Given the description of an element on the screen output the (x, y) to click on. 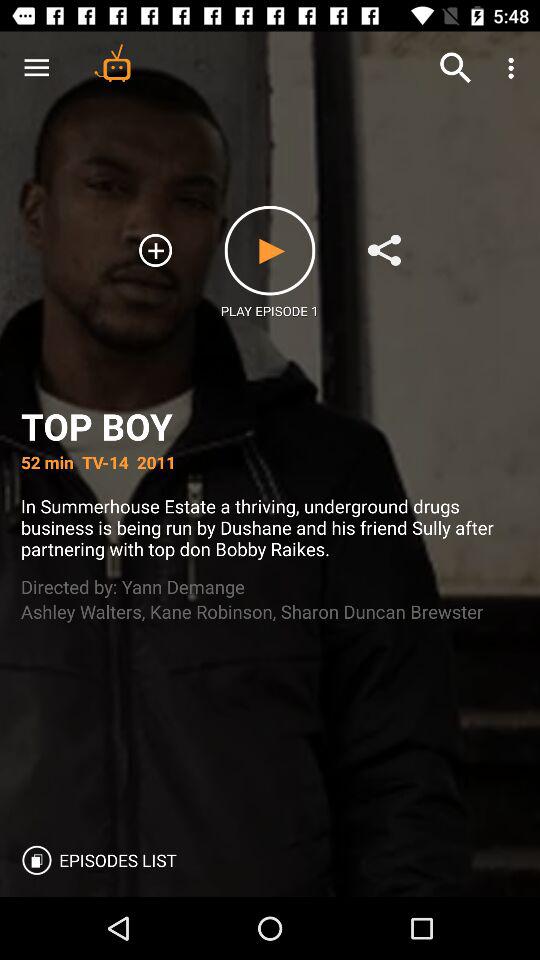
click icon above the top boy icon (455, 67)
